Given the description of an element on the screen output the (x, y) to click on. 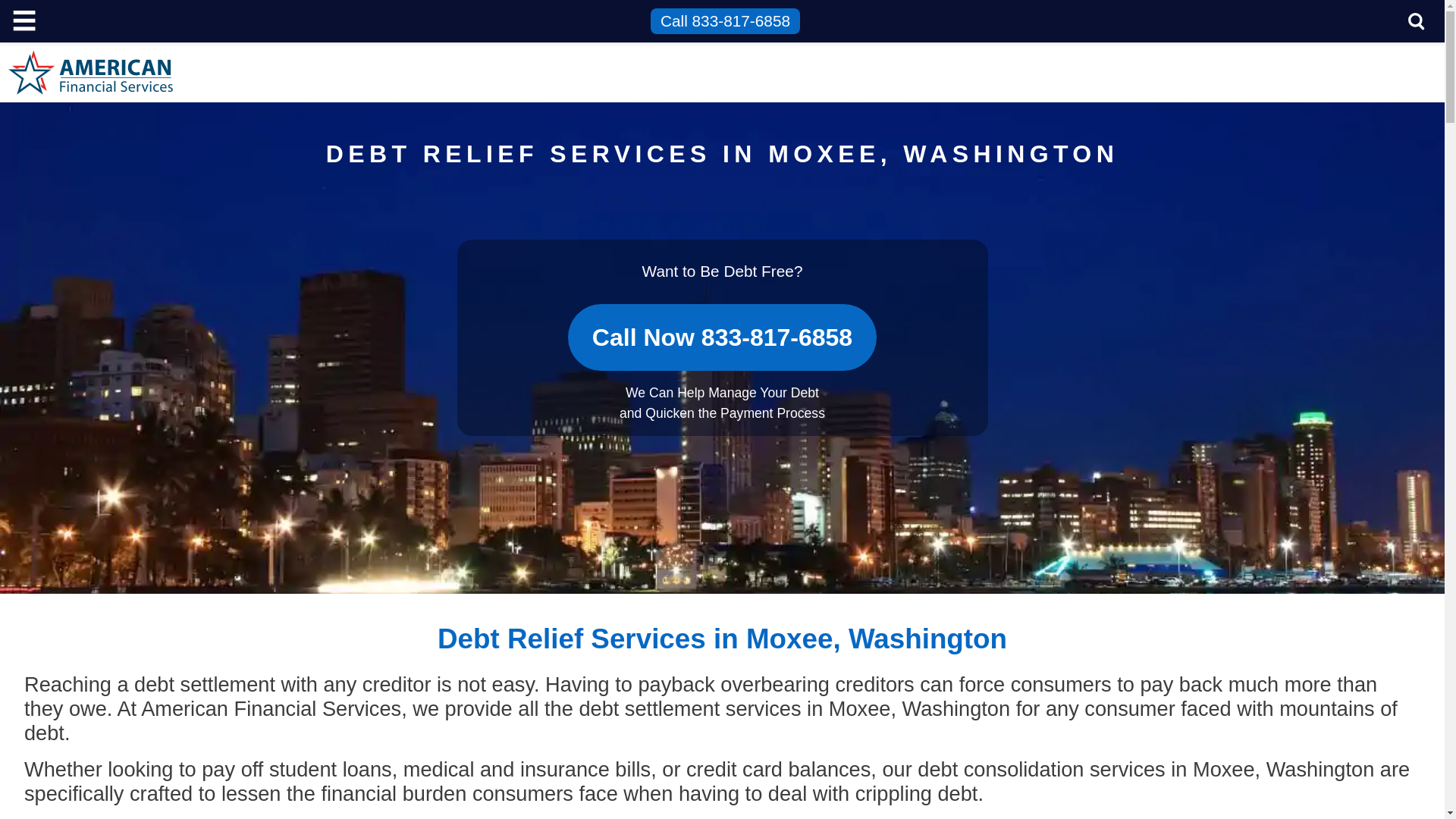
Call Now 833-817-6858 (722, 323)
Call 833-817-6858 (724, 21)
